Given the description of an element on the screen output the (x, y) to click on. 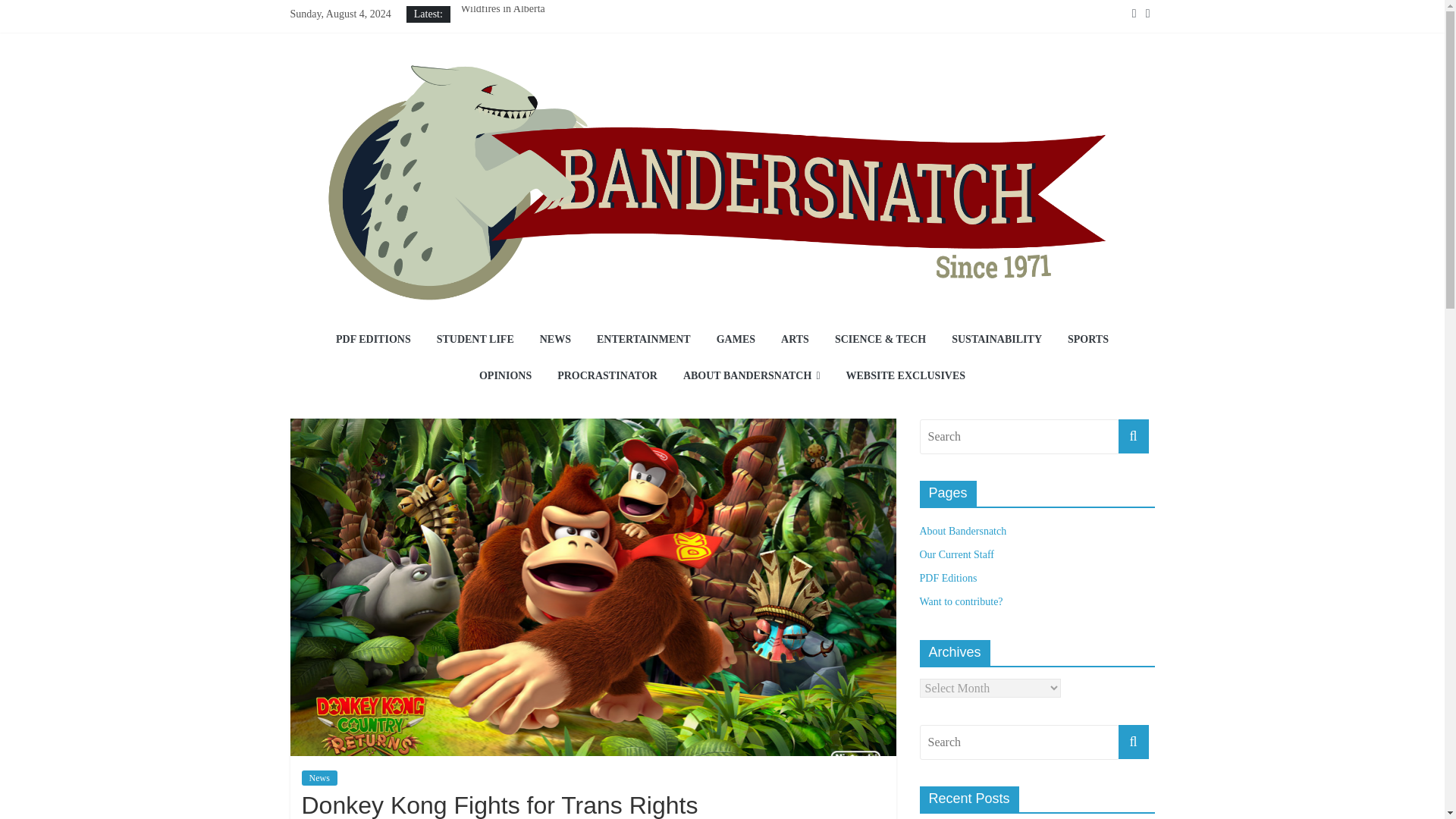
About Bandersnatch (962, 531)
Lilypads (478, 59)
Our Current Staff (956, 554)
Sunset (473, 75)
OPINIONS (505, 376)
Wildfires in Alberta (502, 8)
SUSTAINABILITY (996, 340)
ENTERTAINMENT (643, 340)
NEWS (555, 340)
SPORTS (1088, 340)
PROCRASTINATOR (607, 376)
Sunset (473, 75)
ABOUT BANDERSNATCH (751, 376)
ARTS (795, 340)
The Writing Centre (501, 41)
